Given the description of an element on the screen output the (x, y) to click on. 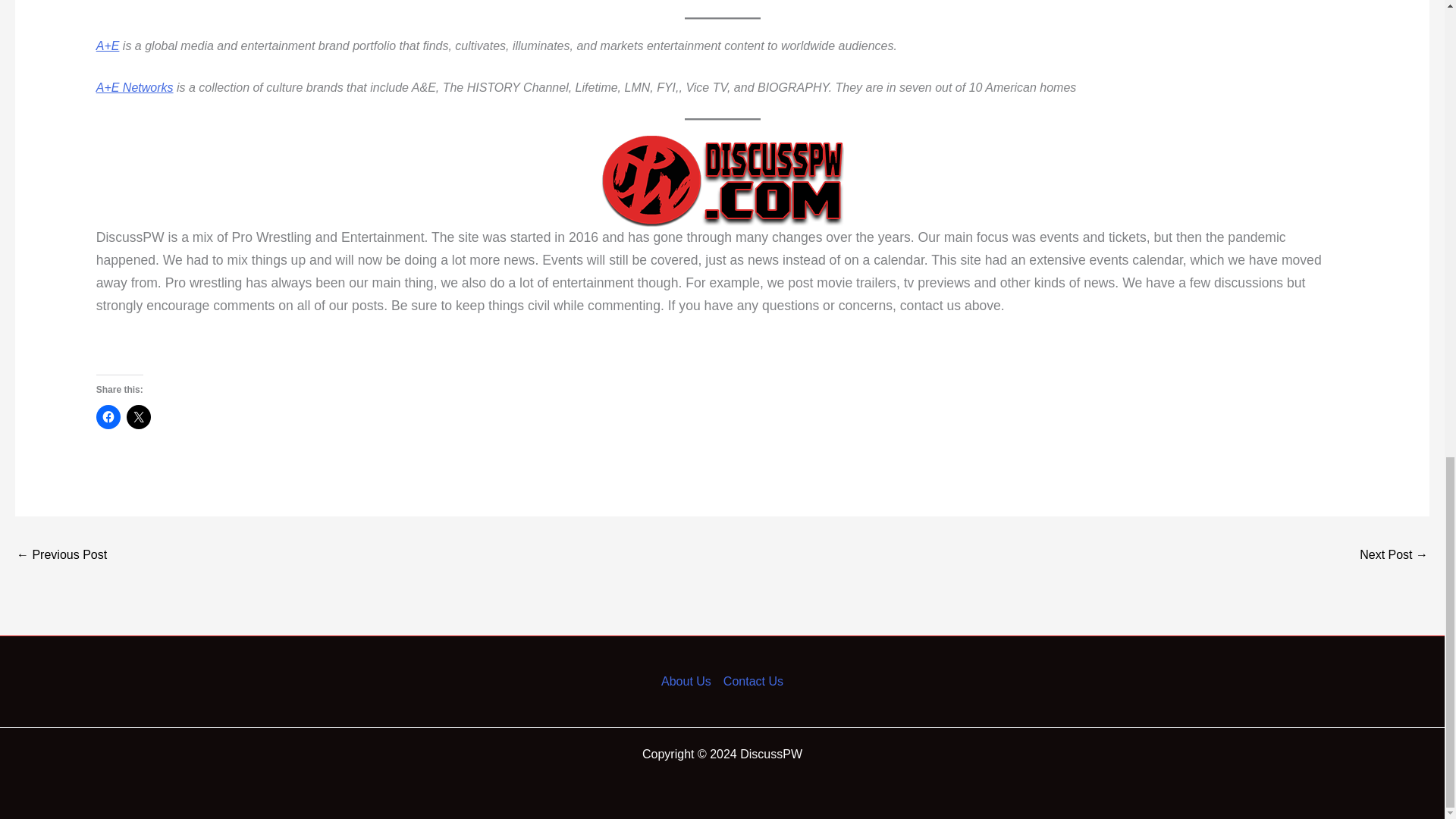
Click to share on Facebook (108, 416)
Click to share on X (138, 416)
